Given the description of an element on the screen output the (x, y) to click on. 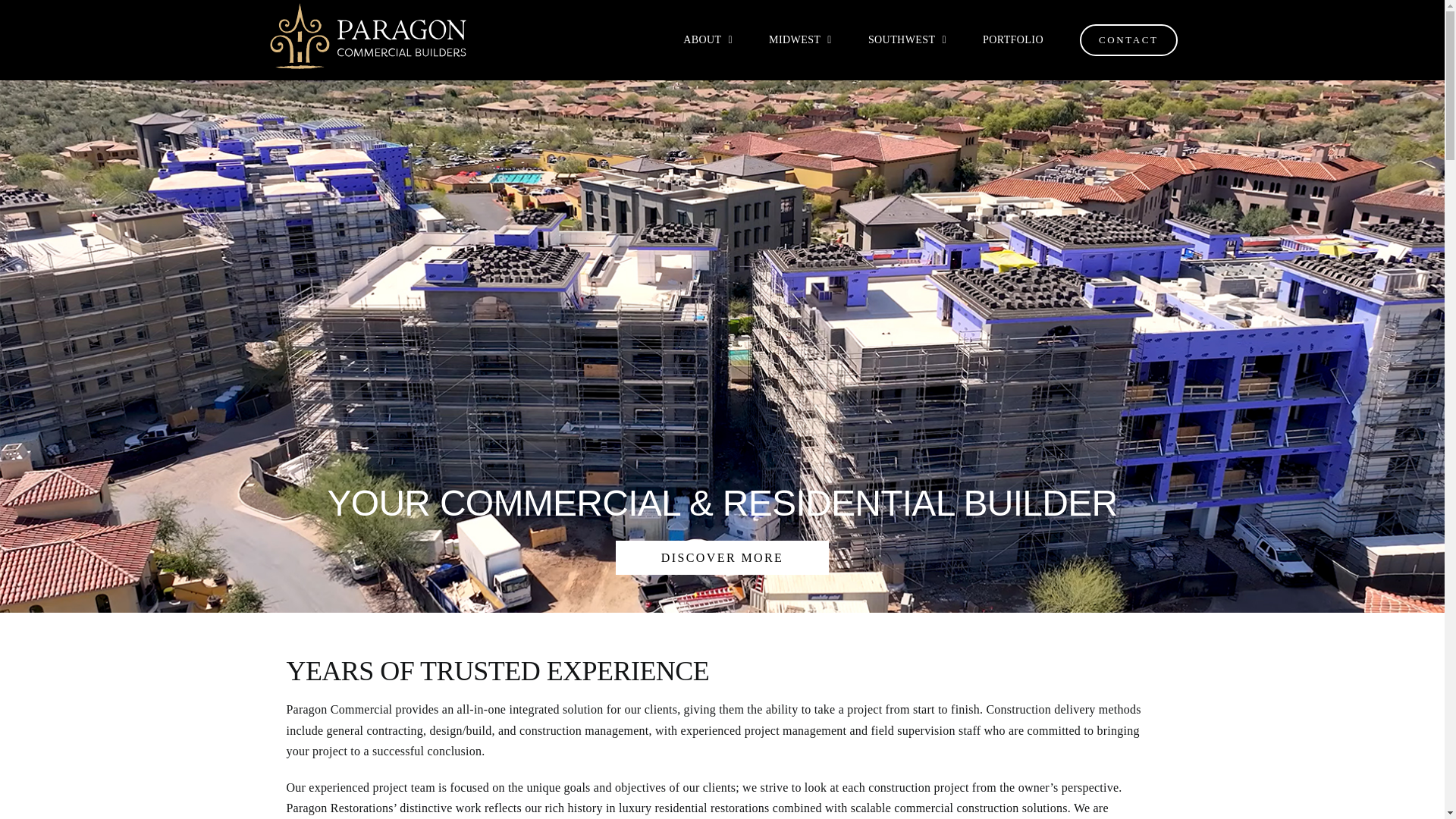
CONTACT (1128, 40)
SOUTHWEST (906, 40)
DISCOVER MORE (721, 557)
